Given the description of an element on the screen output the (x, y) to click on. 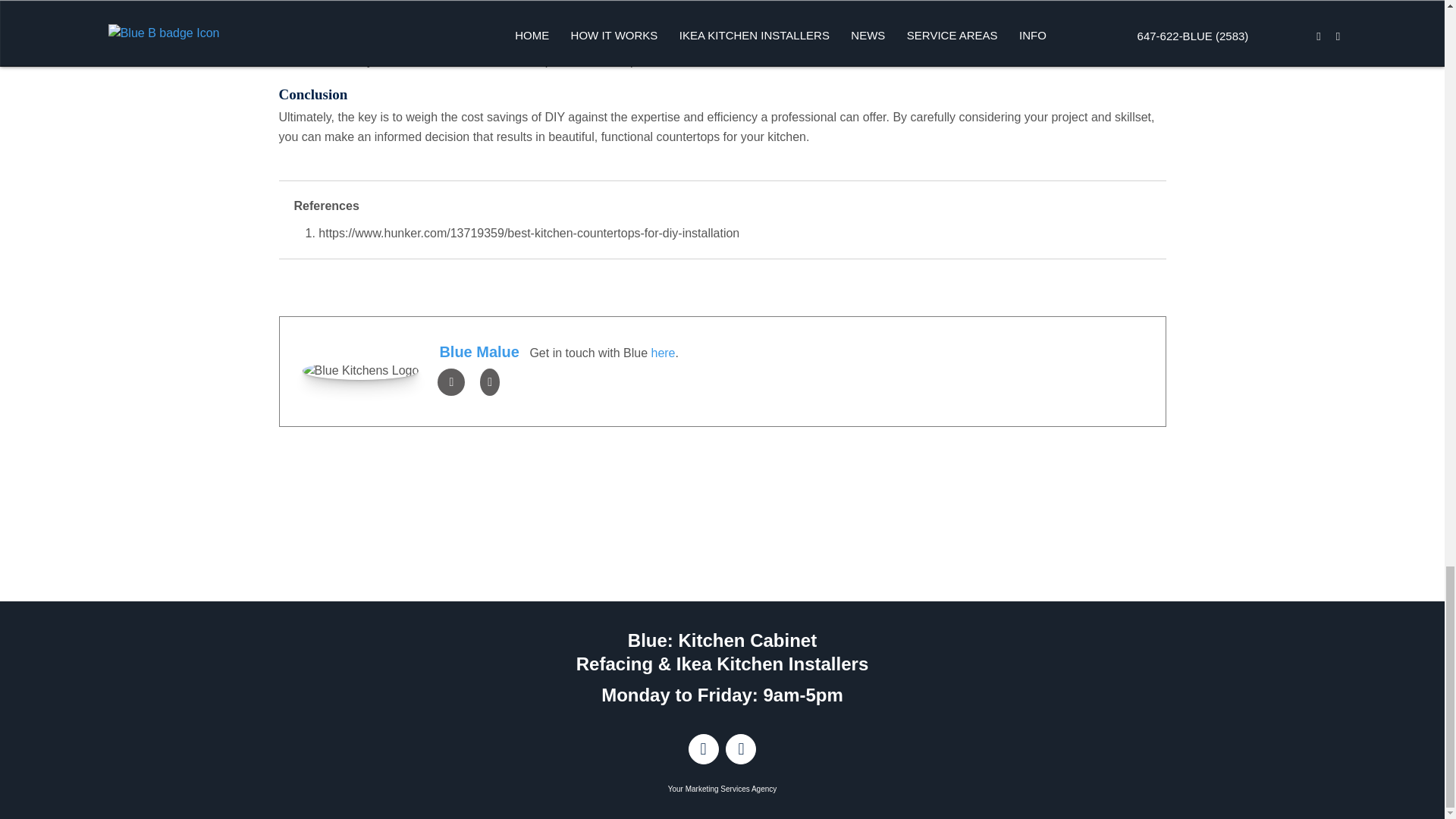
facebook (451, 381)
youtube (489, 381)
here (662, 352)
Blue Malue (479, 351)
